Given the description of an element on the screen output the (x, y) to click on. 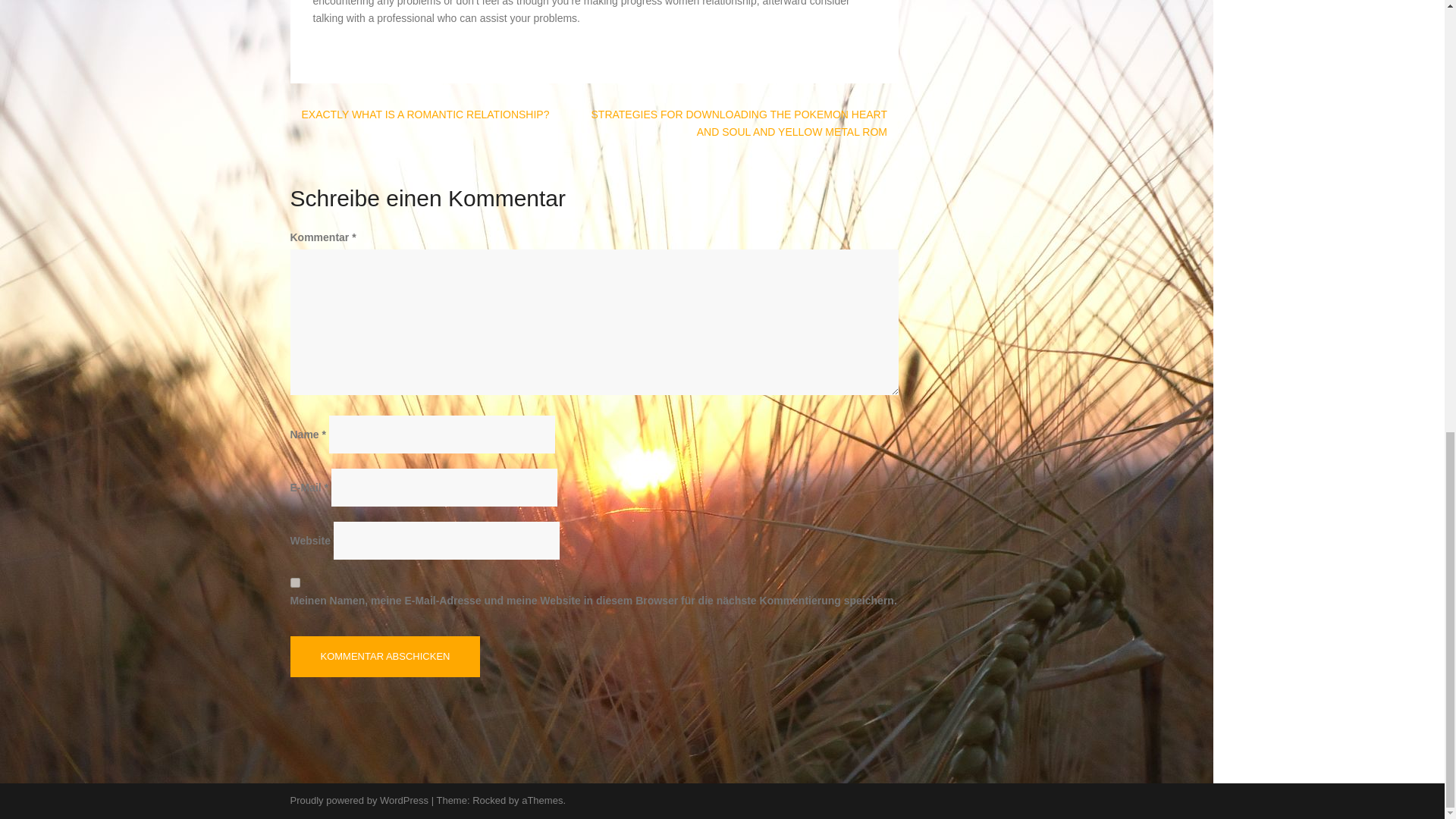
EXACTLY WHAT IS A ROMANTIC RELATIONSHIP? (425, 114)
Rocked (488, 799)
yes (294, 583)
Kommentar abschicken (384, 657)
Kommentar abschicken (384, 657)
Proudly powered by WordPress (358, 799)
